Given the description of an element on the screen output the (x, y) to click on. 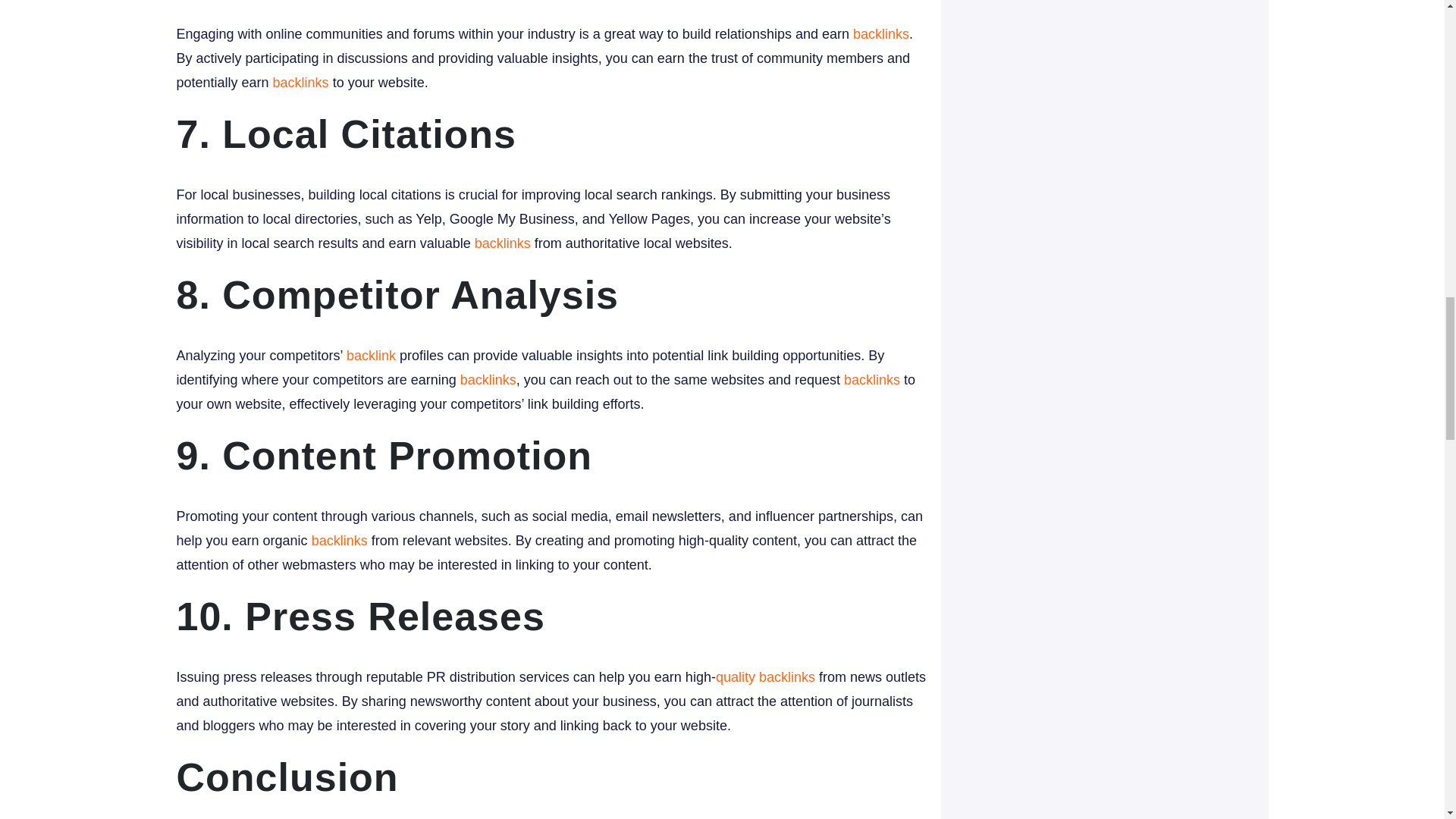
backlinks (301, 82)
backlinks (339, 540)
quality backlinks (765, 676)
backlinks (488, 379)
backlinks (871, 379)
backlinks (502, 242)
backlinks (880, 33)
backlink (371, 355)
